Given the description of an element on the screen output the (x, y) to click on. 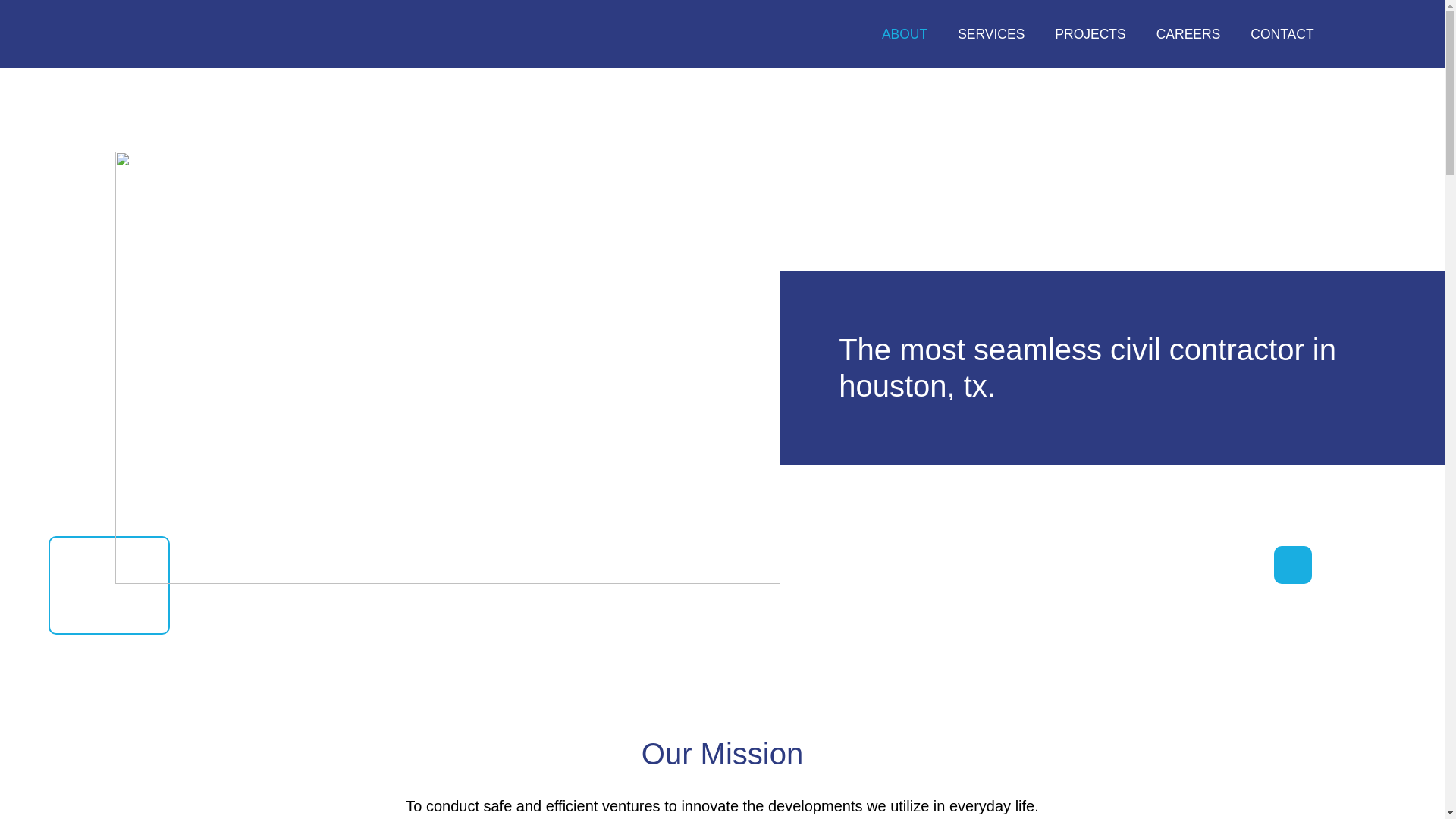
PROJECTS (1089, 33)
SERVICES (990, 33)
CONTACT (1280, 33)
ABOUT (904, 33)
CAREERS (1188, 33)
